Given the description of an element on the screen output the (x, y) to click on. 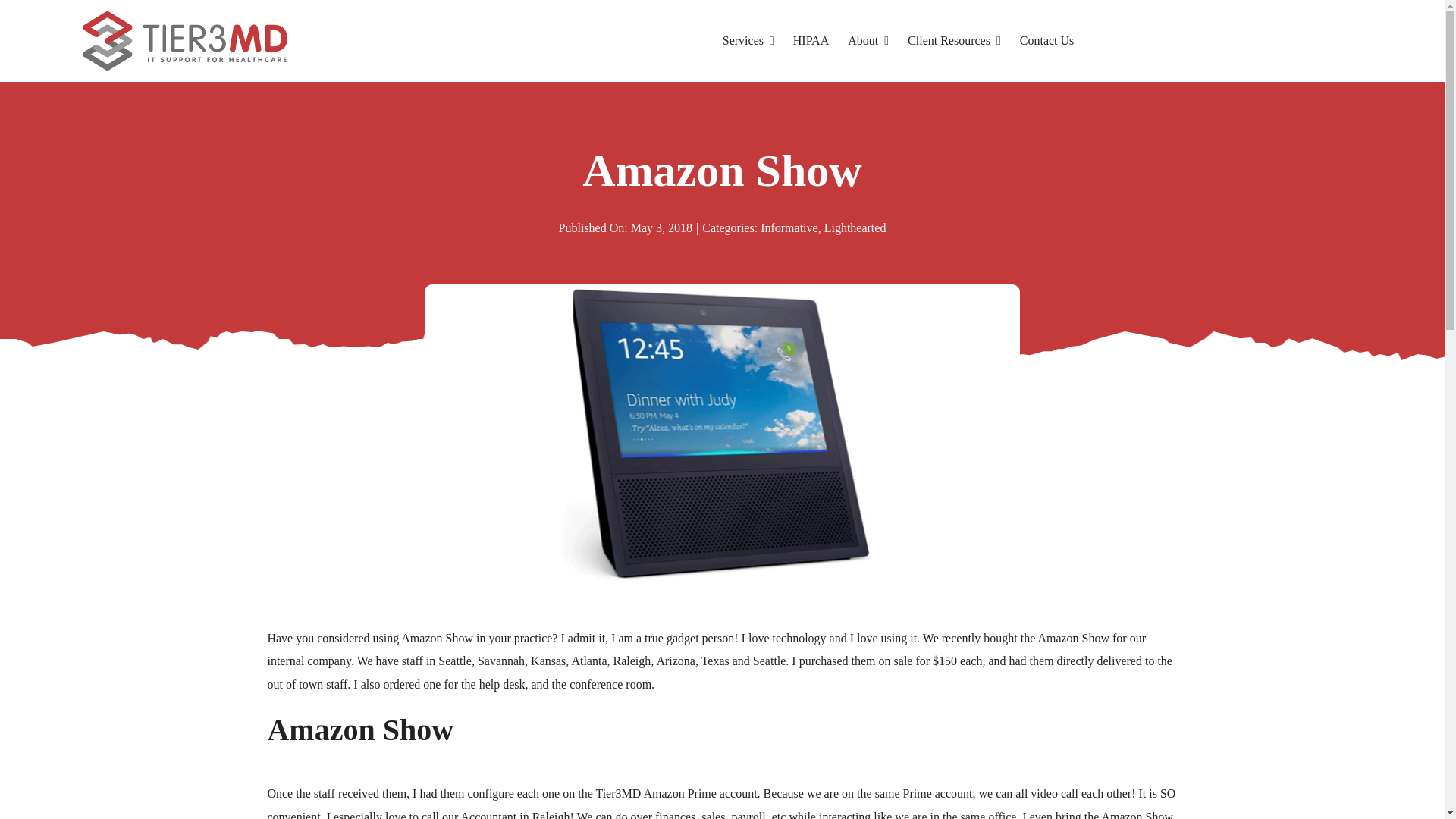
Client Resources (954, 40)
Lighthearted (855, 227)
Informative (789, 227)
Contact Us (1047, 40)
Services (748, 40)
